Given the description of an element on the screen output the (x, y) to click on. 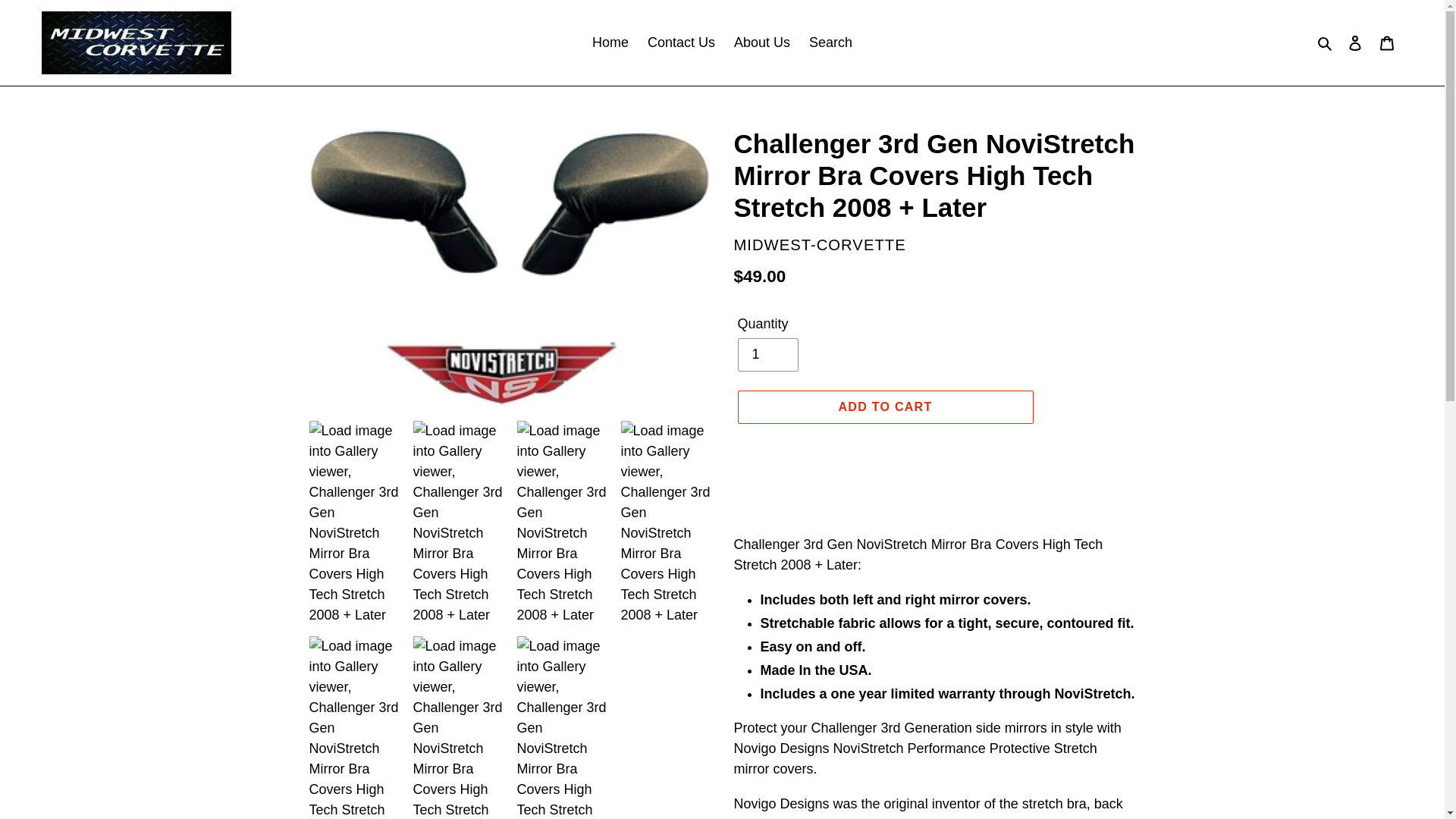
Log in (1355, 42)
1 (766, 354)
Home (610, 42)
Search (1326, 42)
About Us (761, 42)
Search (831, 42)
Cart (1387, 42)
Contact Us (681, 42)
ADD TO CART (884, 407)
